Given the description of an element on the screen output the (x, y) to click on. 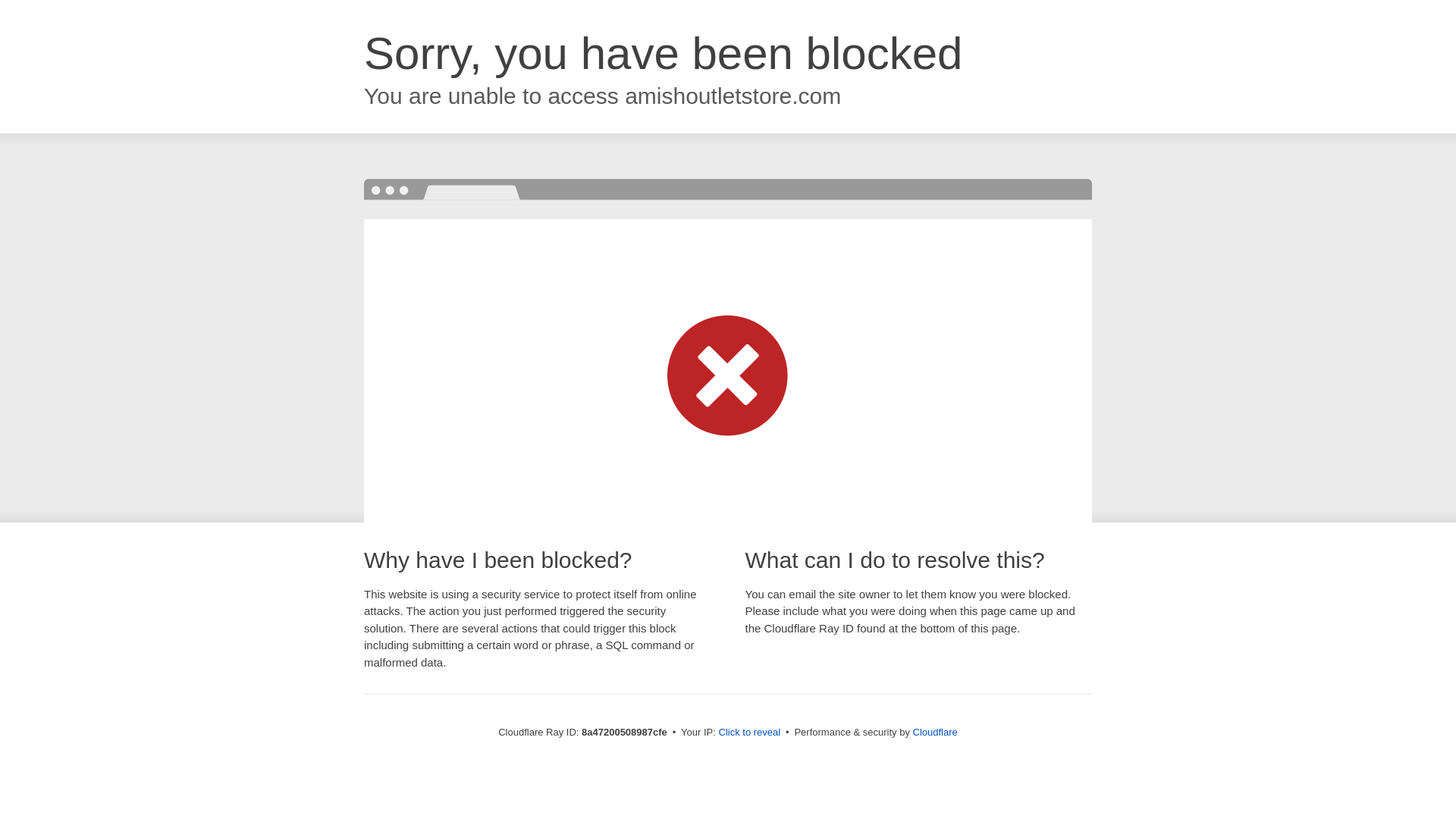
Click to reveal (749, 732)
Cloudflare (935, 731)
